Given the description of an element on the screen output the (x, y) to click on. 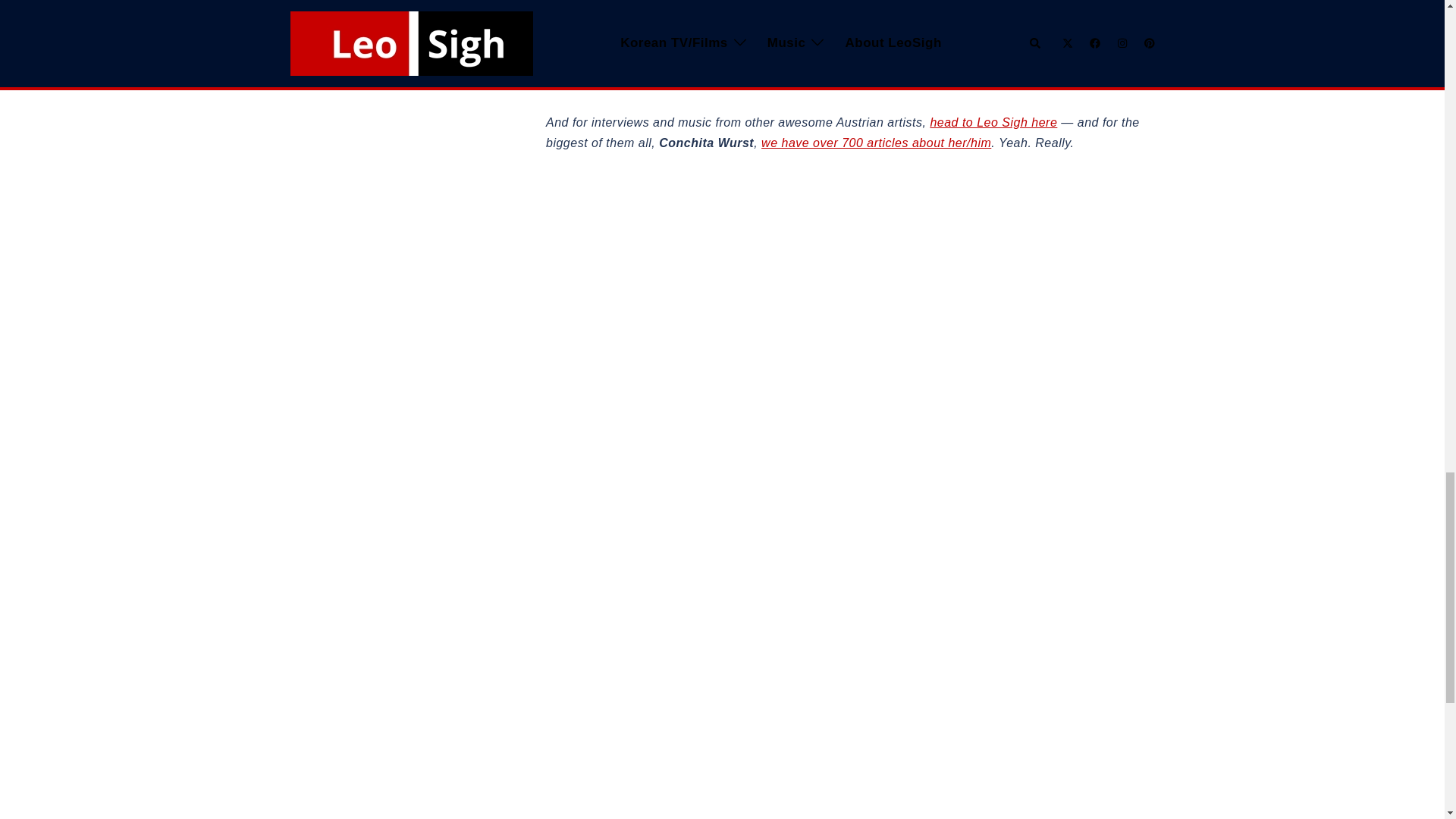
Facebook page (903, 62)
head to Leo Sigh here (993, 122)
YouTube channel (781, 62)
Instagram account (1050, 62)
